Given the description of an element on the screen output the (x, y) to click on. 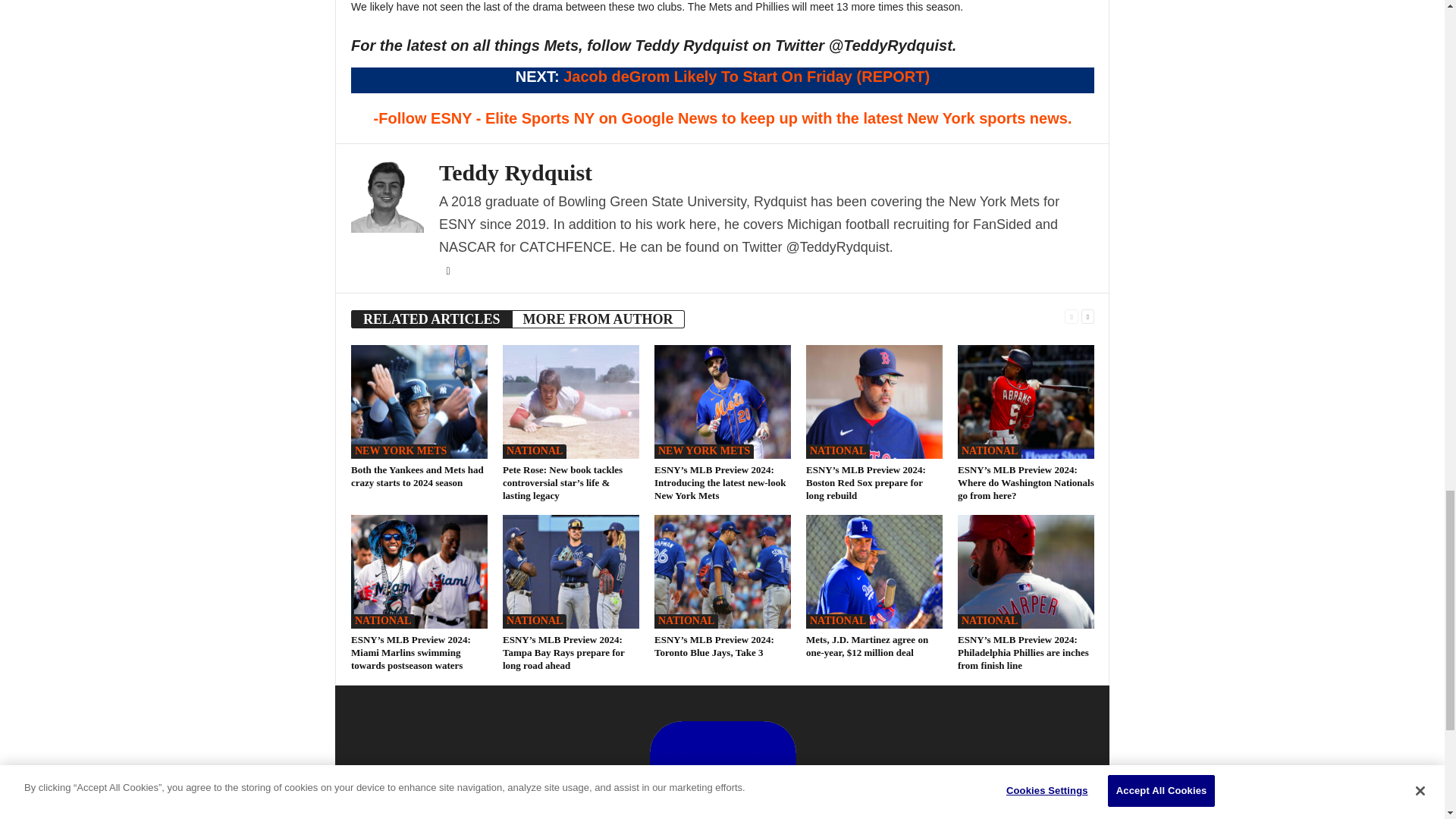
Both the Yankees and Mets had crazy starts to 2024 season (418, 400)
Both the Yankees and Mets had crazy starts to 2024 season (416, 476)
Twitter (448, 270)
